Given the description of an element on the screen output the (x, y) to click on. 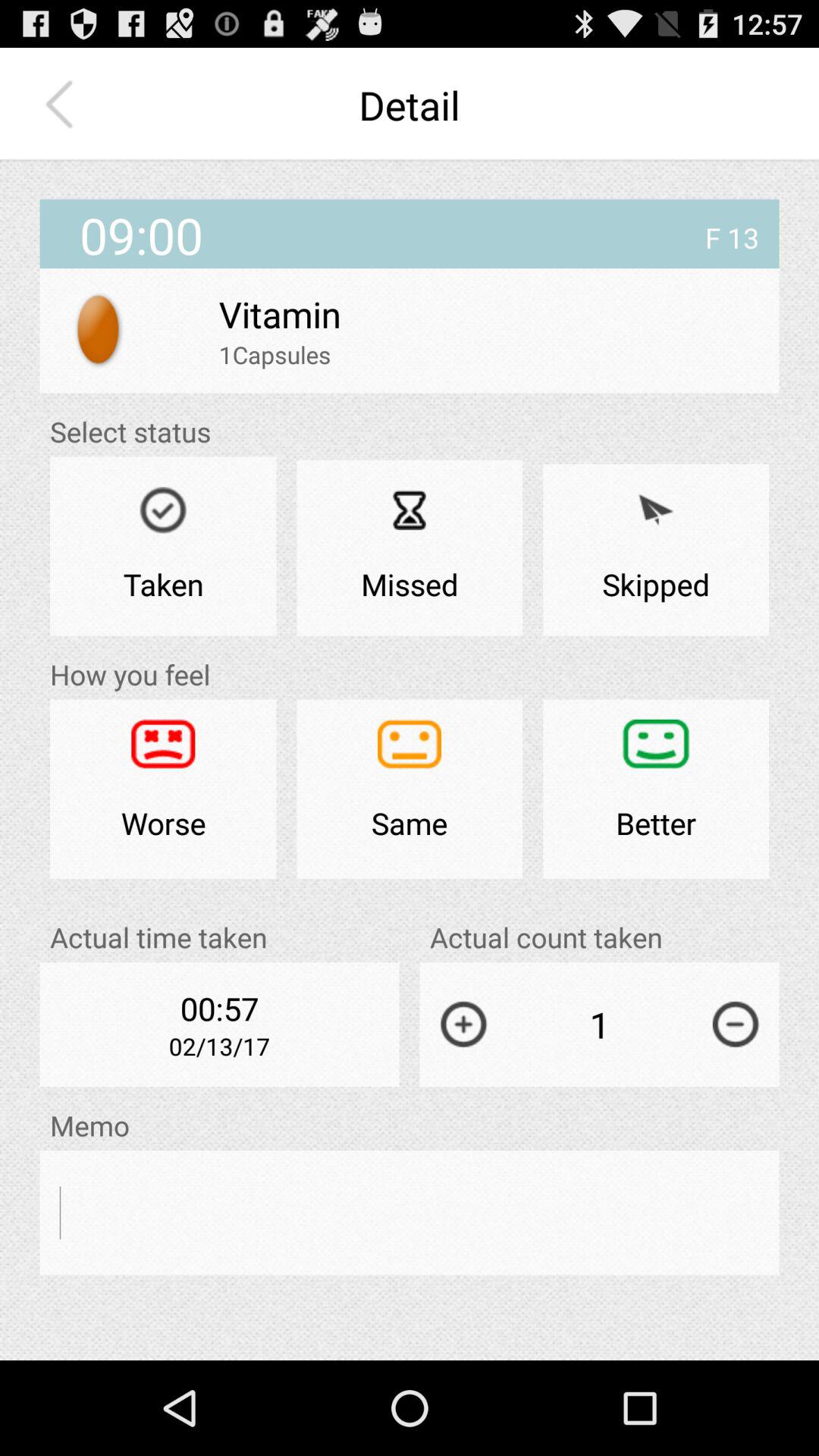
select the app below actual count taken app (463, 1024)
